Given the description of an element on the screen output the (x, y) to click on. 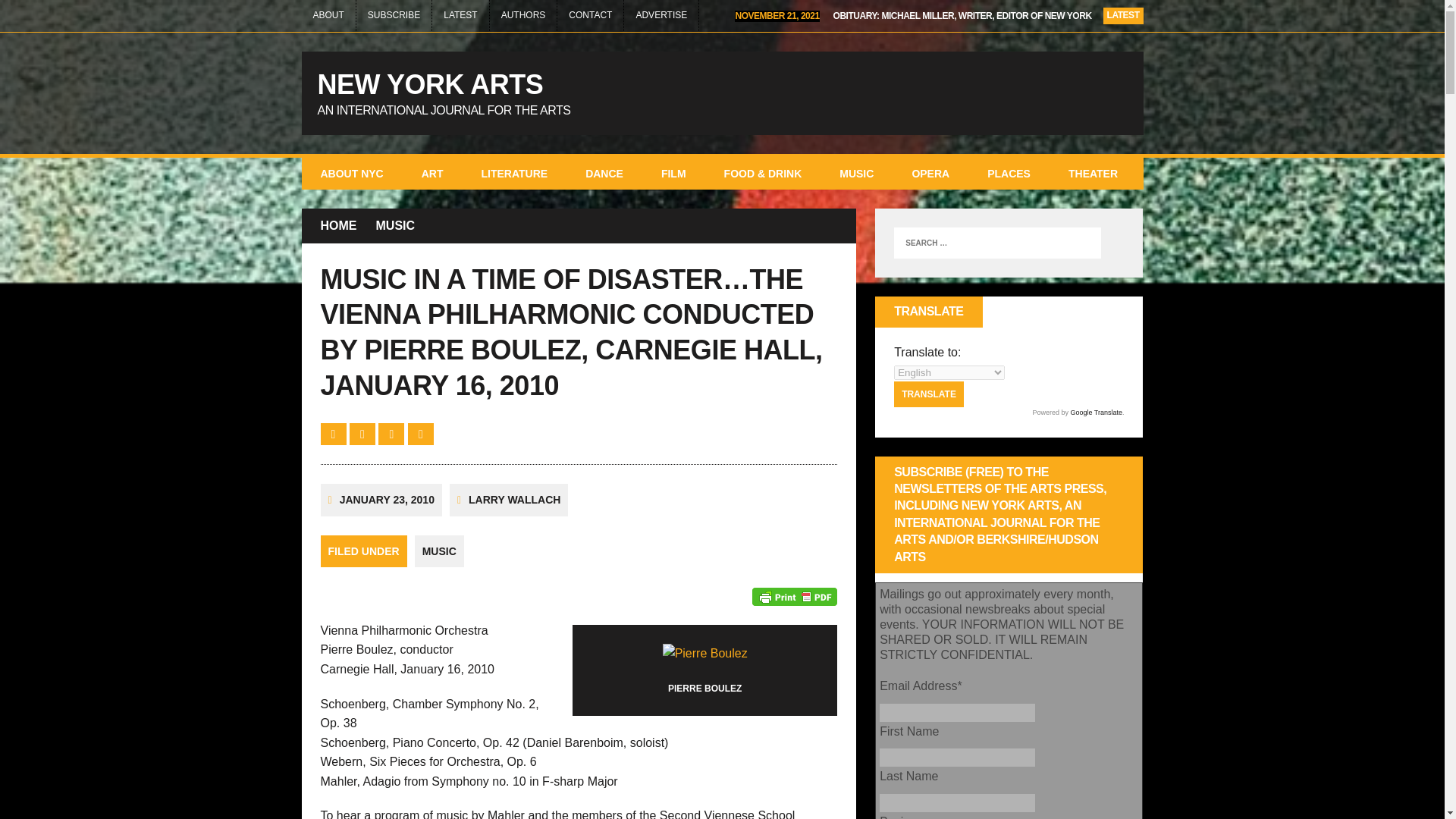
LARRY WALLACH (514, 499)
MUSIC (856, 173)
FILM (673, 173)
Translate (928, 394)
DANCE (604, 173)
ART (433, 173)
New York Arts (721, 93)
Pin This Post (392, 433)
ABOUT (328, 15)
OPERA (930, 173)
AUTHORS (523, 15)
MUSIC (394, 225)
HOME (338, 225)
